Given the description of an element on the screen output the (x, y) to click on. 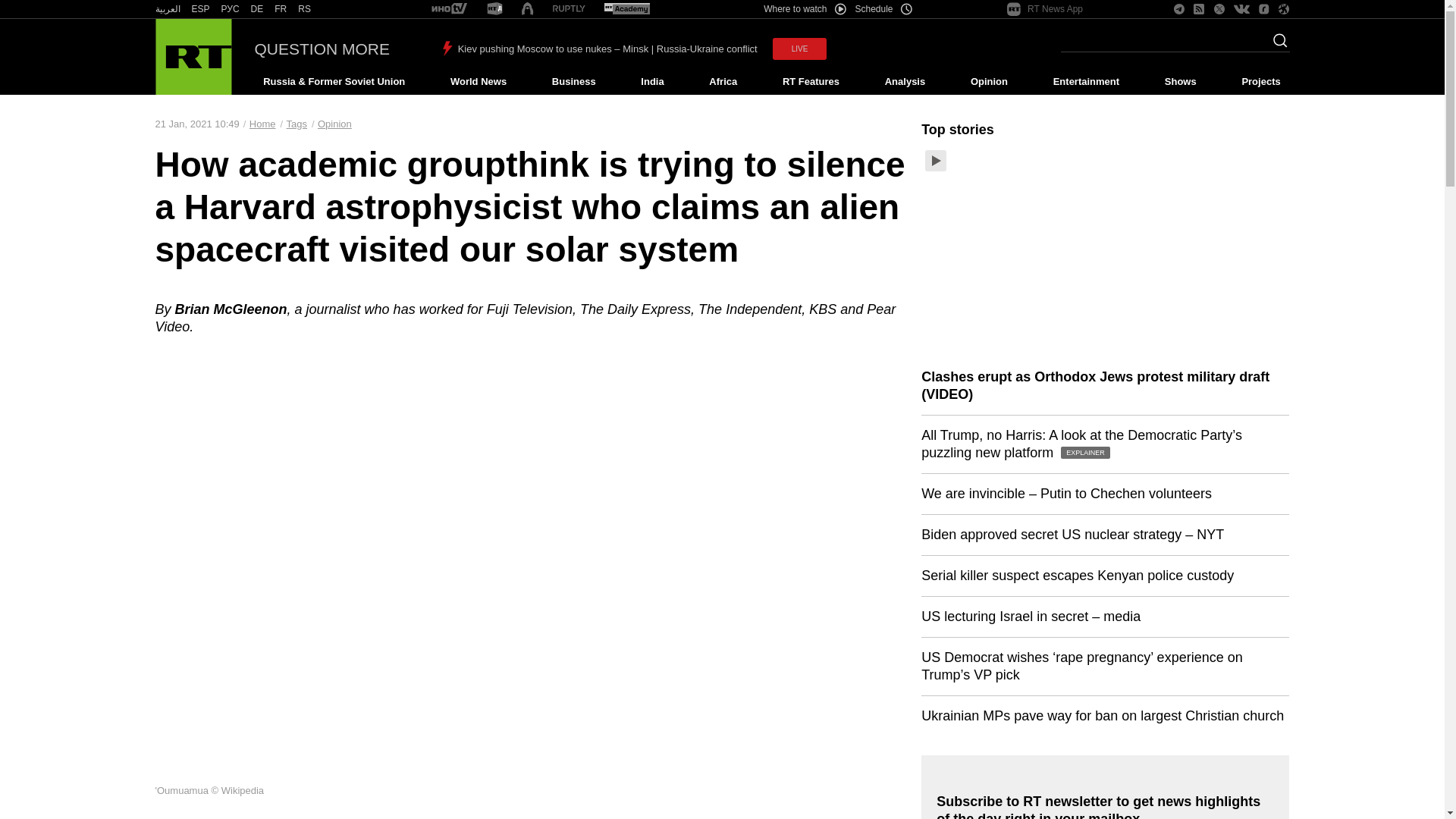
Entertainment (1085, 81)
RT  (166, 9)
Where to watch (803, 9)
RT  (199, 9)
Business (573, 81)
DE (256, 9)
Search (1276, 44)
QUESTION MORE (322, 48)
RT  (304, 9)
Projects (1261, 81)
